Given the description of an element on the screen output the (x, y) to click on. 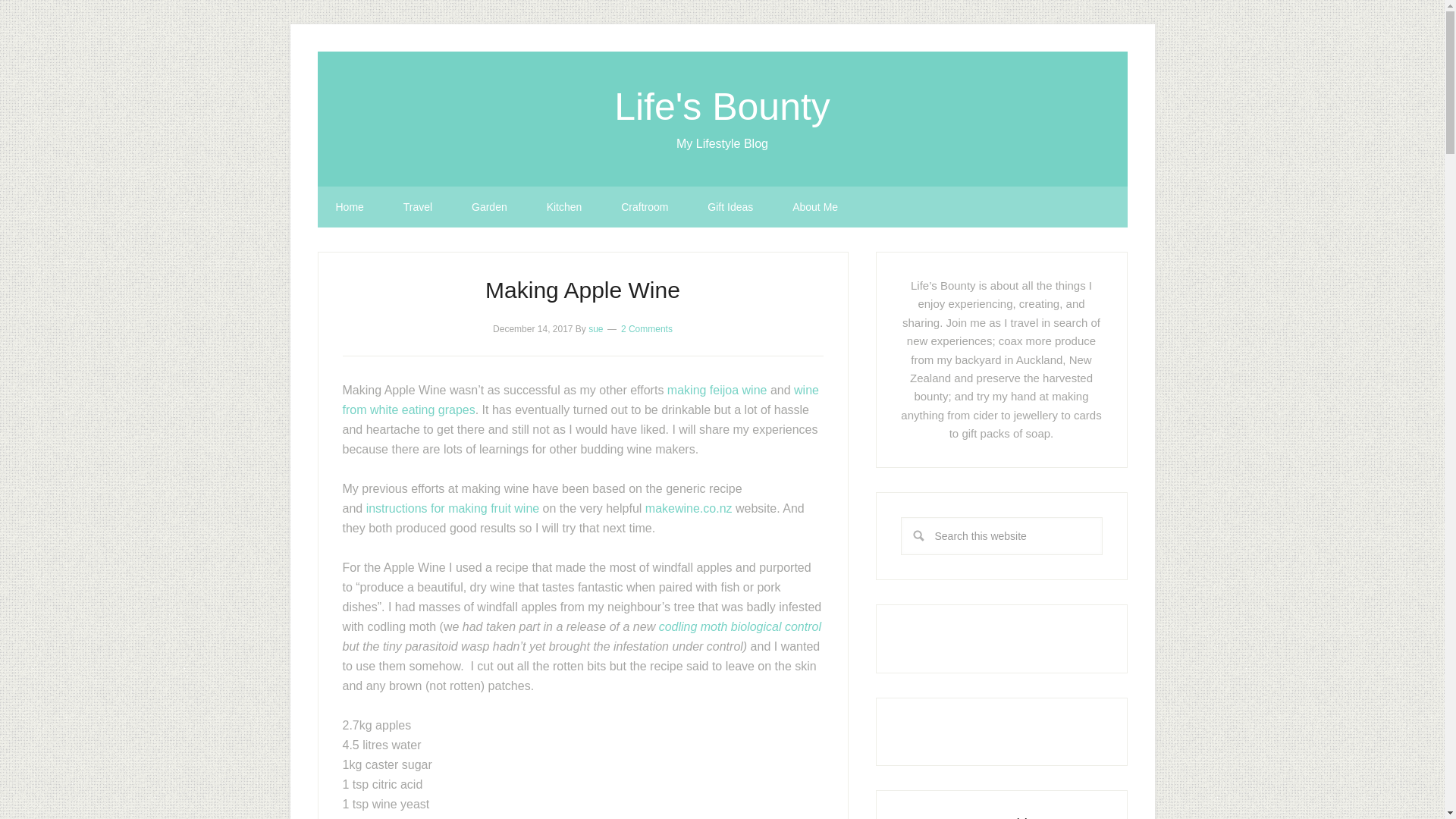
Life's Bounty (721, 106)
Home (349, 206)
Travel (417, 206)
